Given the description of an element on the screen output the (x, y) to click on. 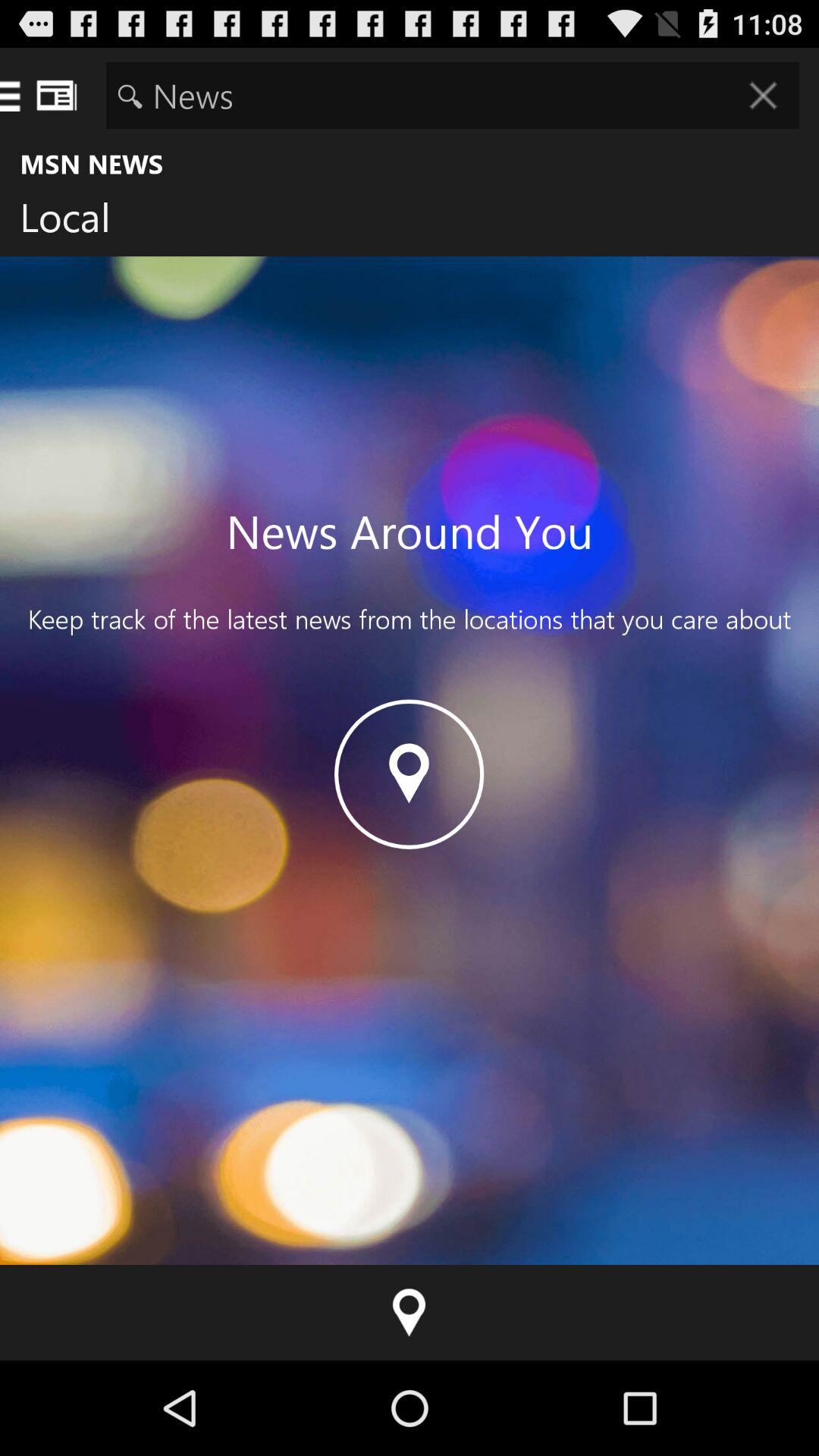
turn off the item above msn news item (452, 95)
